Given the description of an element on the screen output the (x, y) to click on. 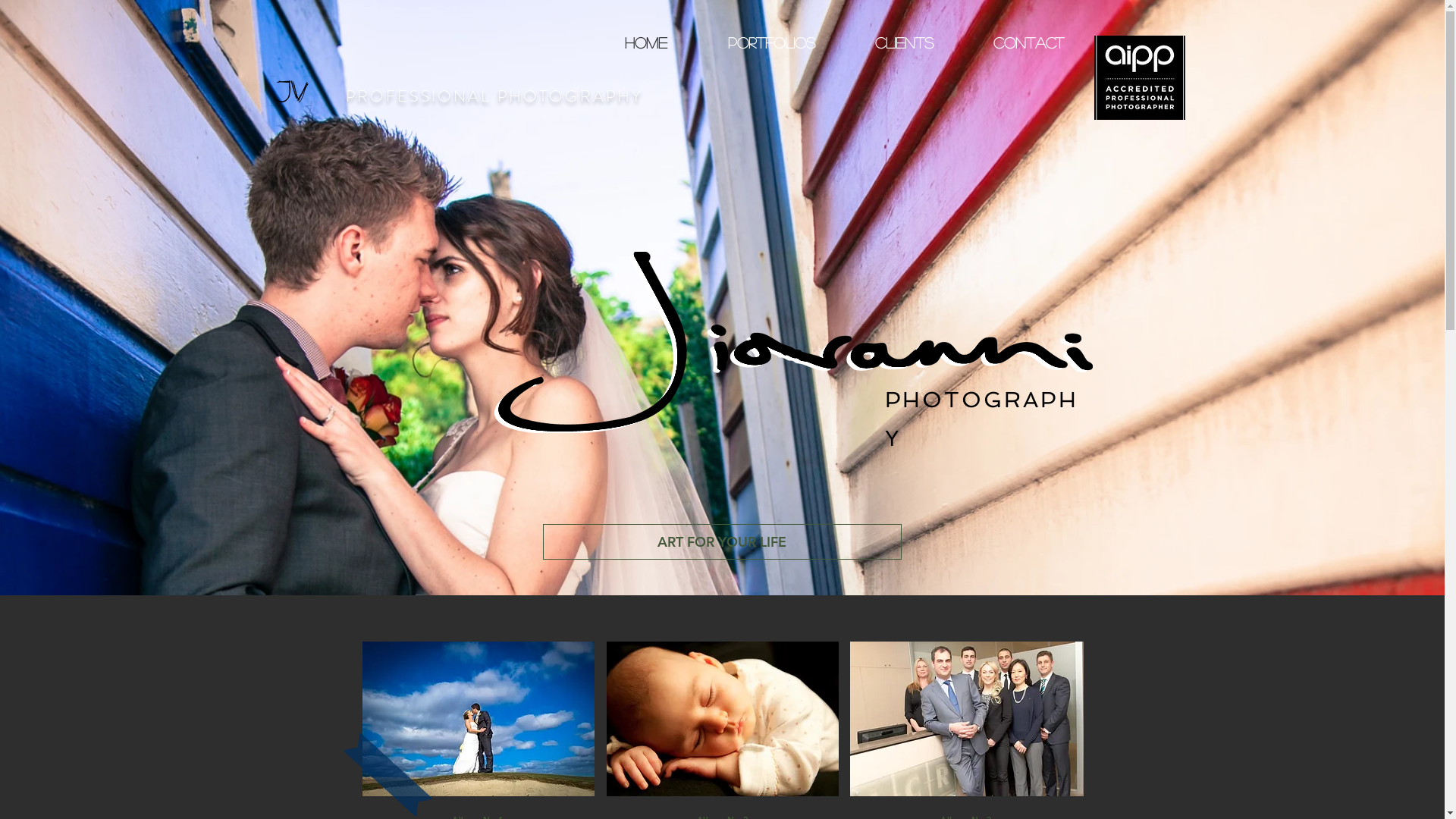
Portfolios Element type: text (771, 42)
Home Element type: text (645, 42)
Clients Element type: text (903, 42)
Contact Element type: text (1028, 42)
ART FOR YOUR LIFE Element type: text (721, 541)
